Given the description of an element on the screen output the (x, y) to click on. 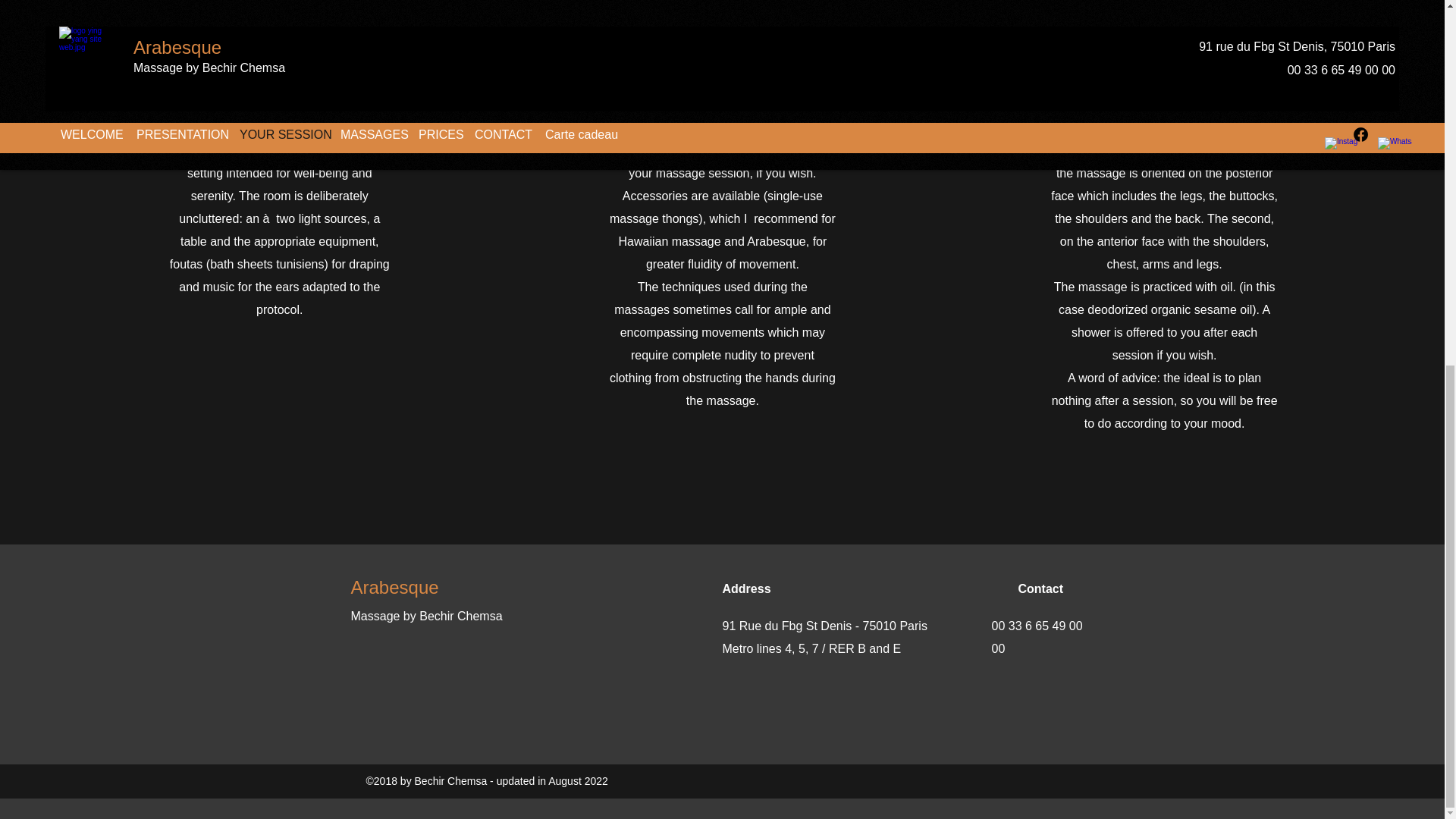
Arabesque (394, 587)
